Given the description of an element on the screen output the (x, y) to click on. 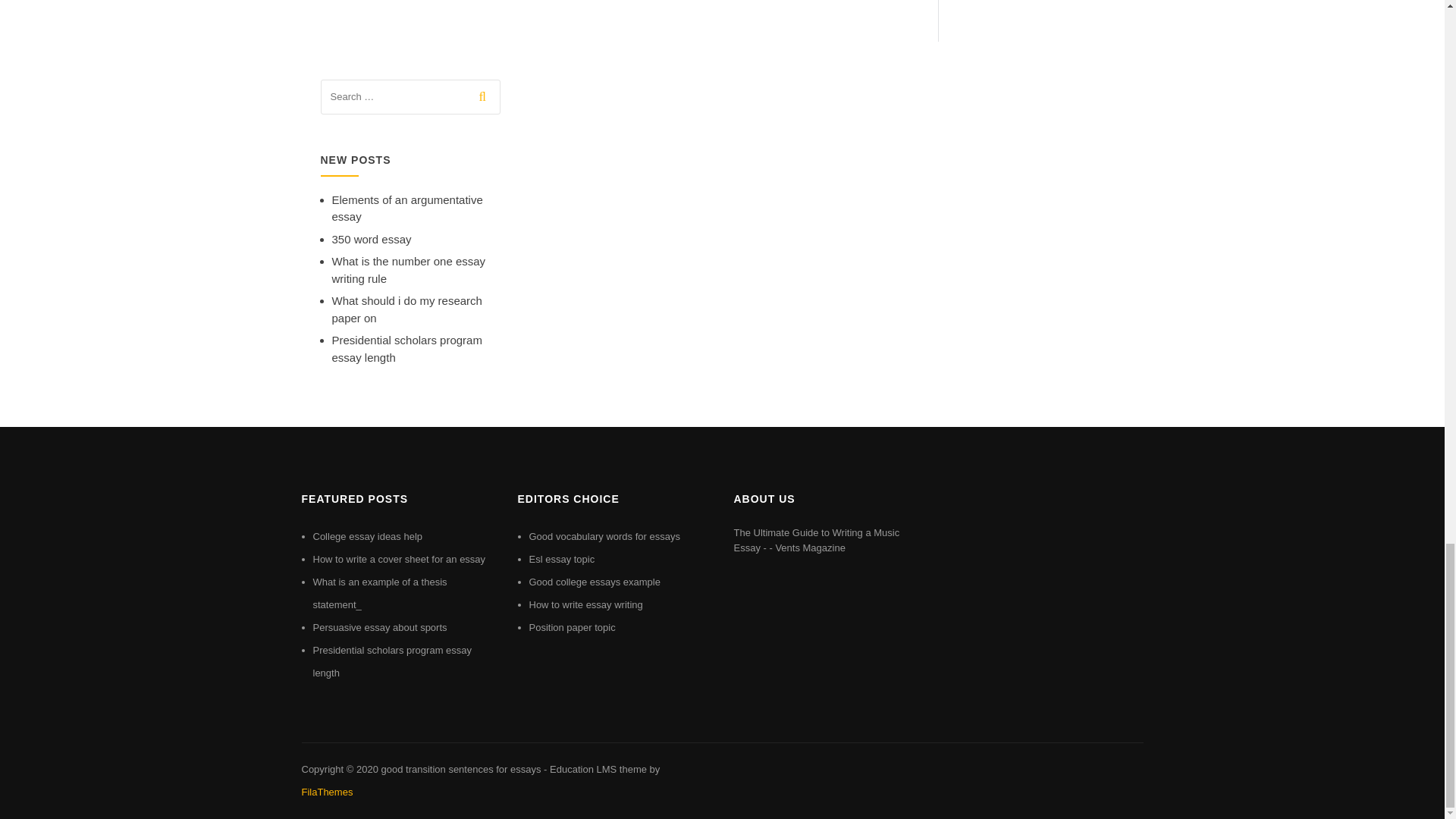
Esl essay topic (562, 559)
Good vocabulary words for essays (604, 536)
Position paper topic (572, 627)
What is the number one essay writing rule (408, 269)
What should i do my research paper on (406, 309)
Persuasive essay about sports (379, 627)
Good college essays example (595, 582)
Presidential scholars program essay length (406, 348)
How to write a cover sheet for an essay (398, 559)
350 word essay (371, 238)
